Given the description of an element on the screen output the (x, y) to click on. 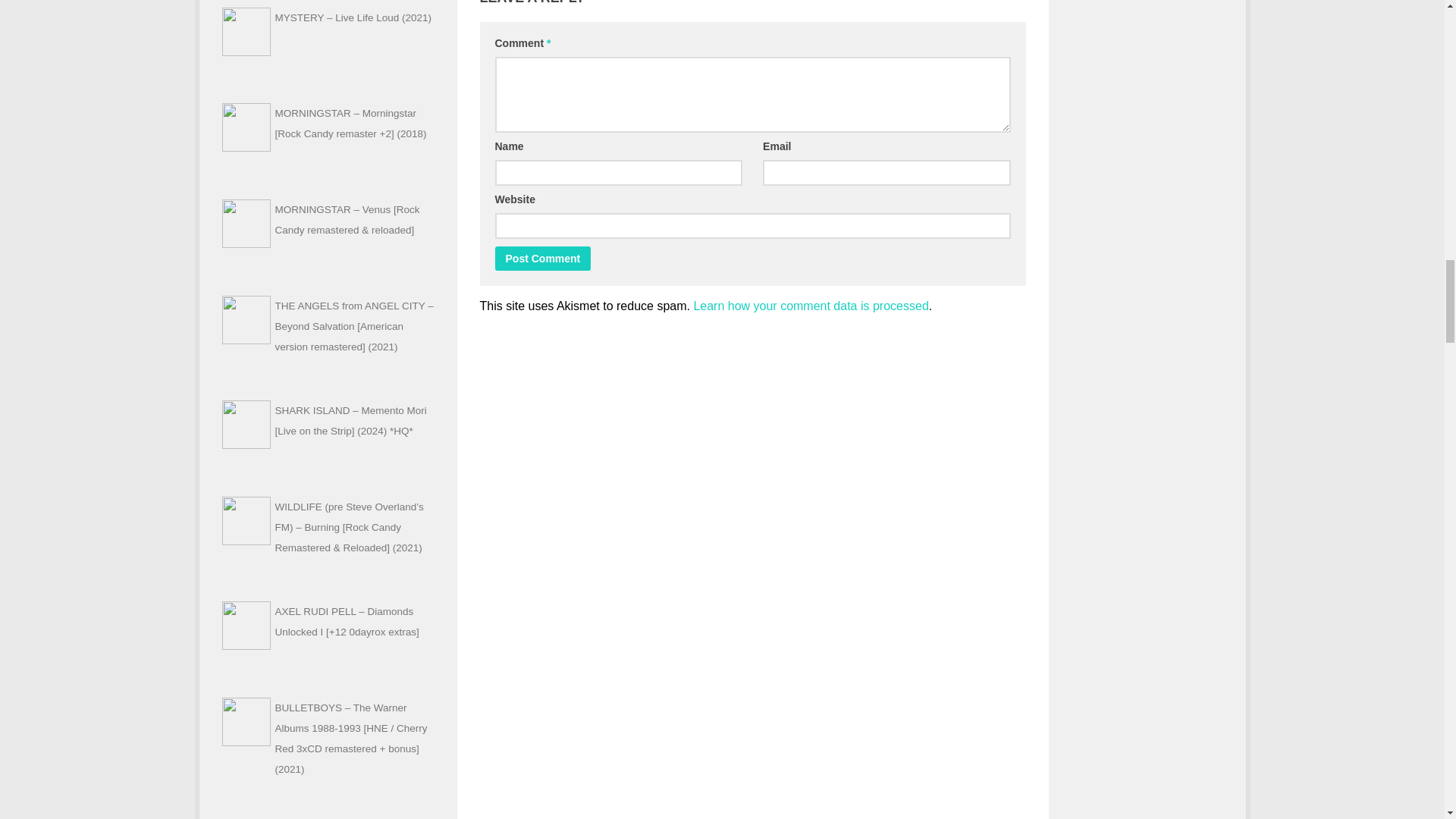
Post Comment (543, 258)
Post Comment (543, 258)
Learn how your comment data is processed (810, 305)
